Given the description of an element on the screen output the (x, y) to click on. 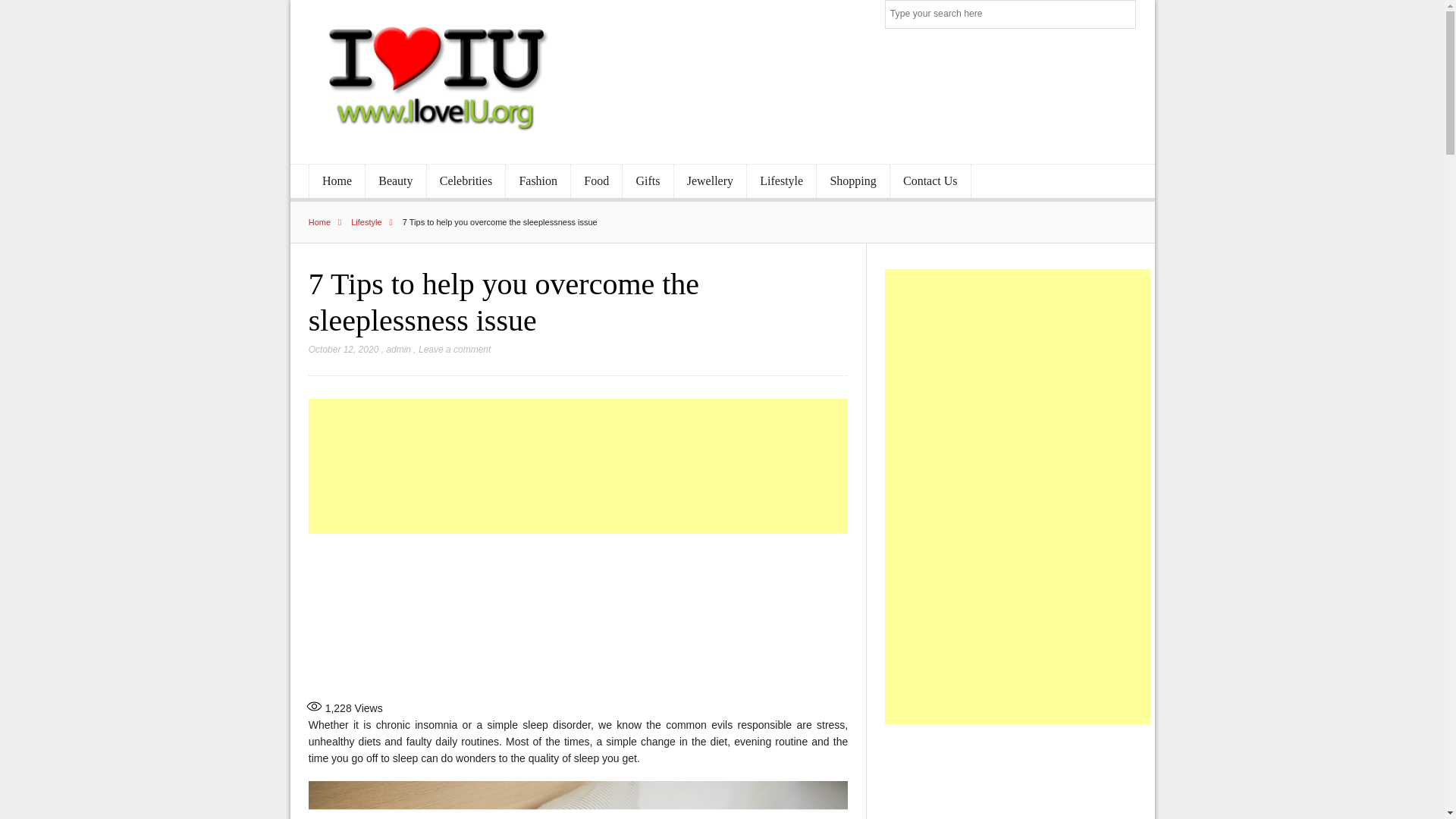
Home (328, 221)
Jewellery (710, 181)
Posts by admin (397, 348)
Fashion (537, 181)
Lifestyle (780, 181)
Shopping (852, 181)
Home (336, 181)
Search (1123, 15)
Contact Us (930, 181)
Beauty (395, 181)
